Given the description of an element on the screen output the (x, y) to click on. 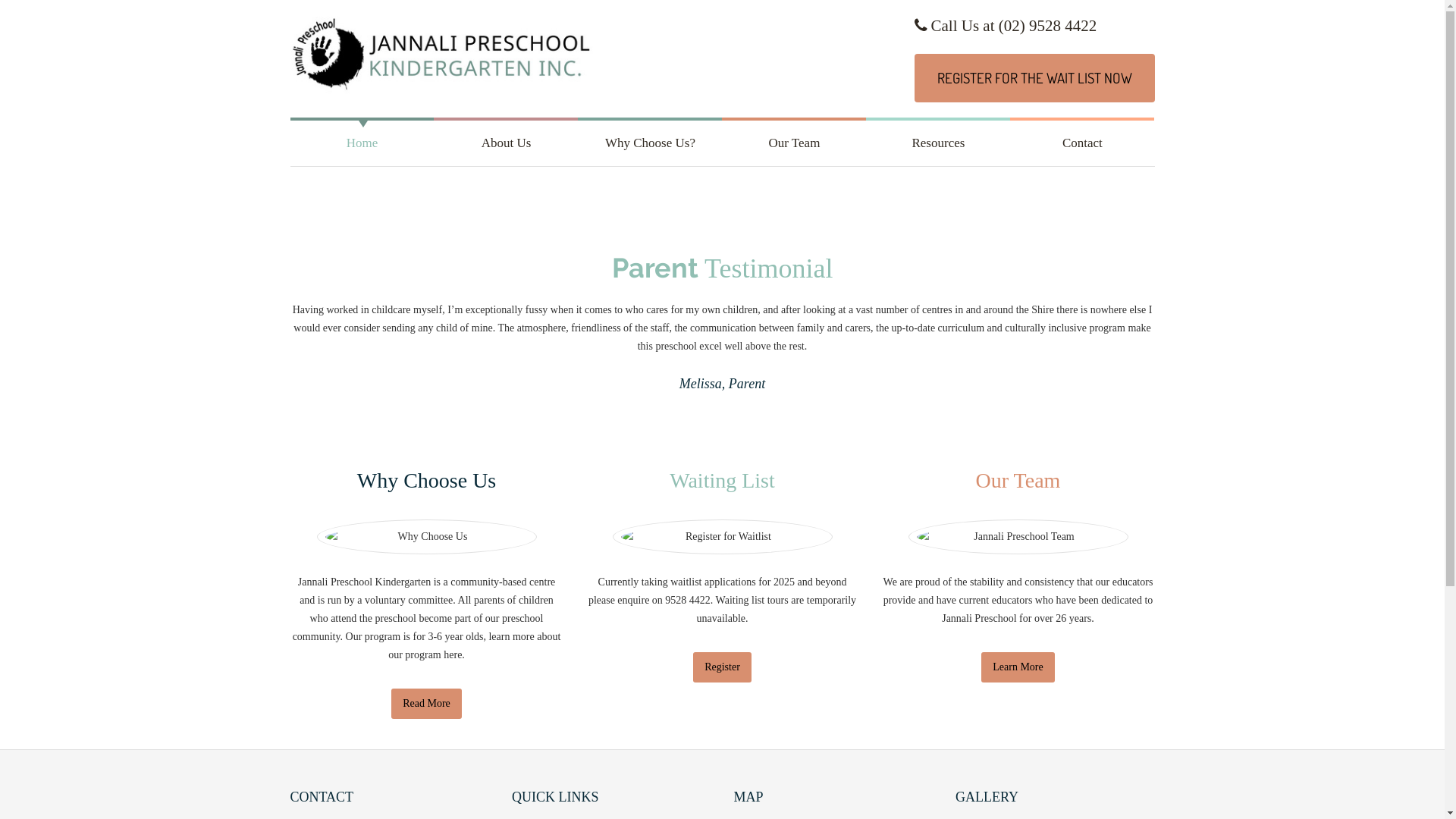
Jannali Preschool Kindergarten Element type: hover (441, 58)
About Us Element type: text (505, 143)
Our Team Element type: text (793, 143)
Learn More Element type: text (1017, 667)
Call Us at (02) 9528 4422 Element type: text (1005, 25)
REGISTER FOR THE WAIT LIST NOW Element type: text (1034, 77)
Why Choose Us? Element type: text (649, 143)
Home Element type: text (361, 143)
Register Element type: text (722, 667)
here Element type: text (452, 654)
Contact Element type: text (1082, 143)
Read More Element type: text (426, 703)
Resources Element type: text (938, 143)
